Given the description of an element on the screen output the (x, y) to click on. 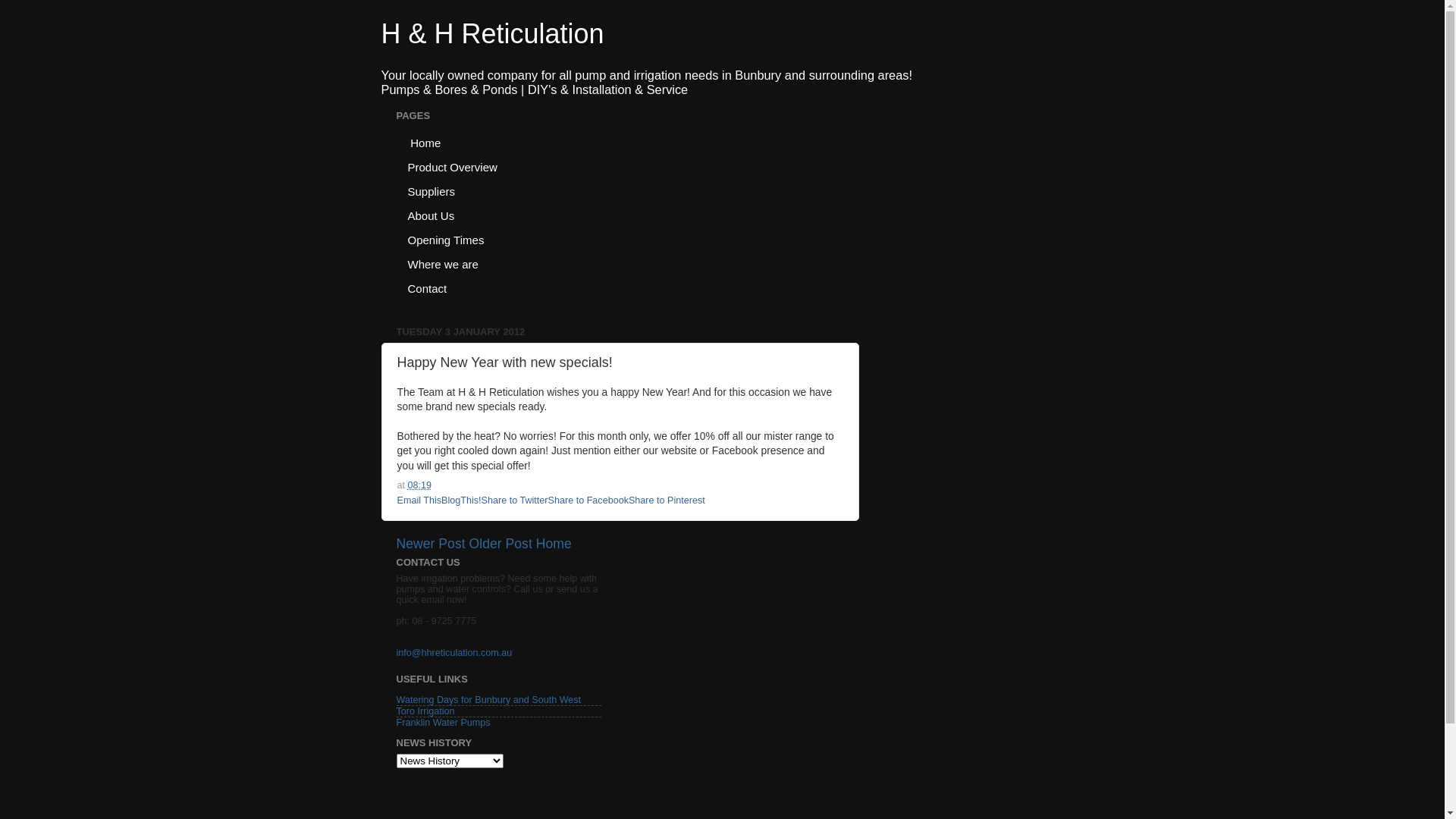
Share to Facebook Element type: text (588, 500)
info@hhreticulation.com.au Element type: text (453, 652)
Suppliers Element type: text (431, 190)
Product Overview Element type: text (451, 166)
BlogThis! Element type: text (461, 500)
About Us Element type: text (430, 215)
Home Element type: text (553, 543)
Where we are Element type: text (442, 263)
Watering Days for Bunbury and South West Element type: text (487, 699)
Franklin Water Pumps Element type: text (442, 722)
Newer Post Element type: text (429, 543)
Opening Times Element type: text (445, 239)
Share to Pinterest Element type: text (666, 500)
08:19 Element type: text (419, 485)
Toro Irrigation Element type: text (424, 711)
Email This Element type: text (419, 500)
Home Element type: text (423, 142)
H & H Reticulation Element type: text (491, 33)
Older Post Element type: text (500, 543)
Share to Twitter Element type: text (514, 500)
Contact Element type: text (426, 288)
